Given the description of an element on the screen output the (x, y) to click on. 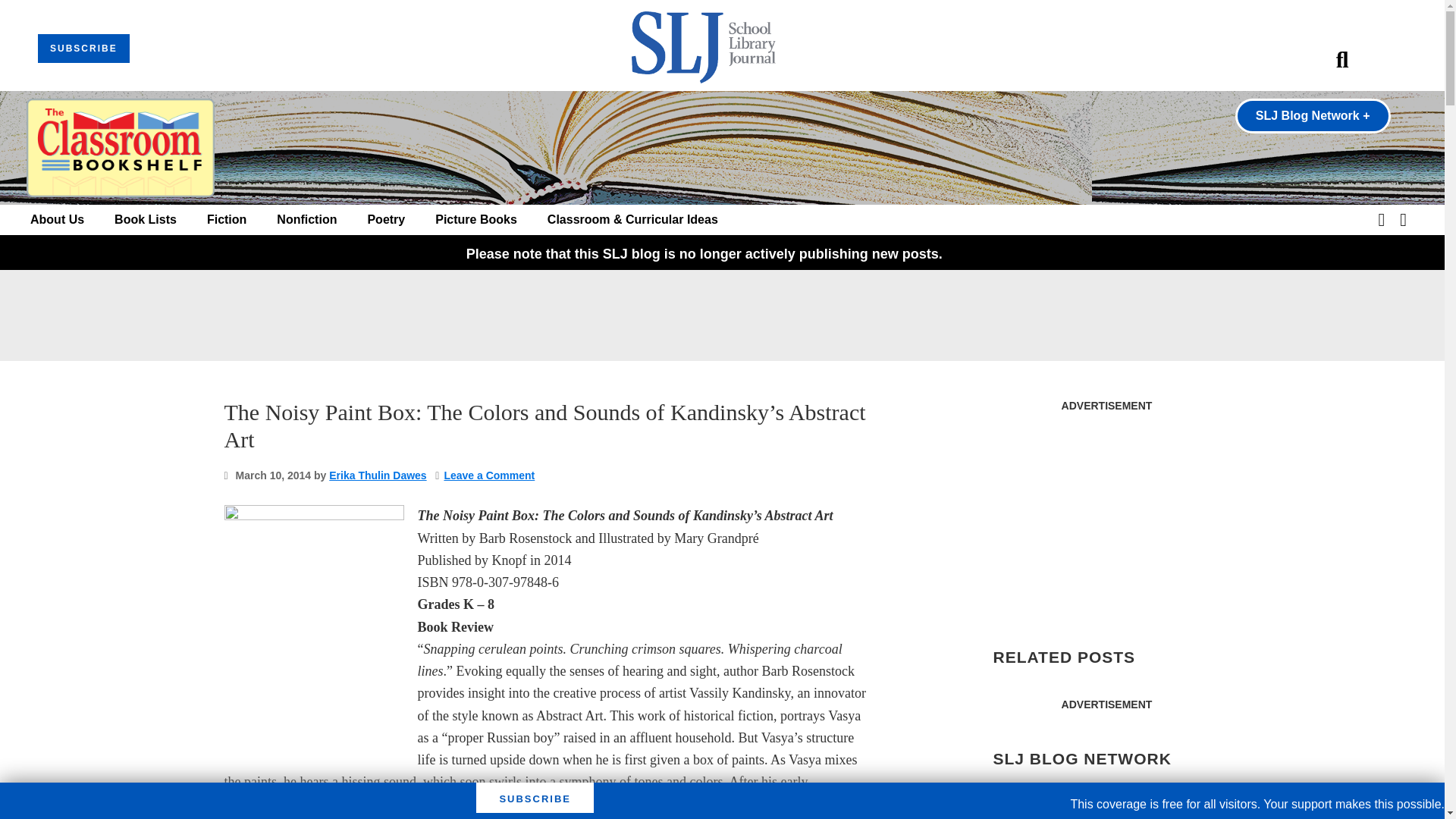
Nonfiction (306, 219)
Fiction (226, 219)
About Us (57, 219)
3rd party ad content (1106, 514)
3rd party ad content (721, 315)
Book Lists (145, 219)
SUBSCRIBE (83, 48)
